Given the description of an element on the screen output the (x, y) to click on. 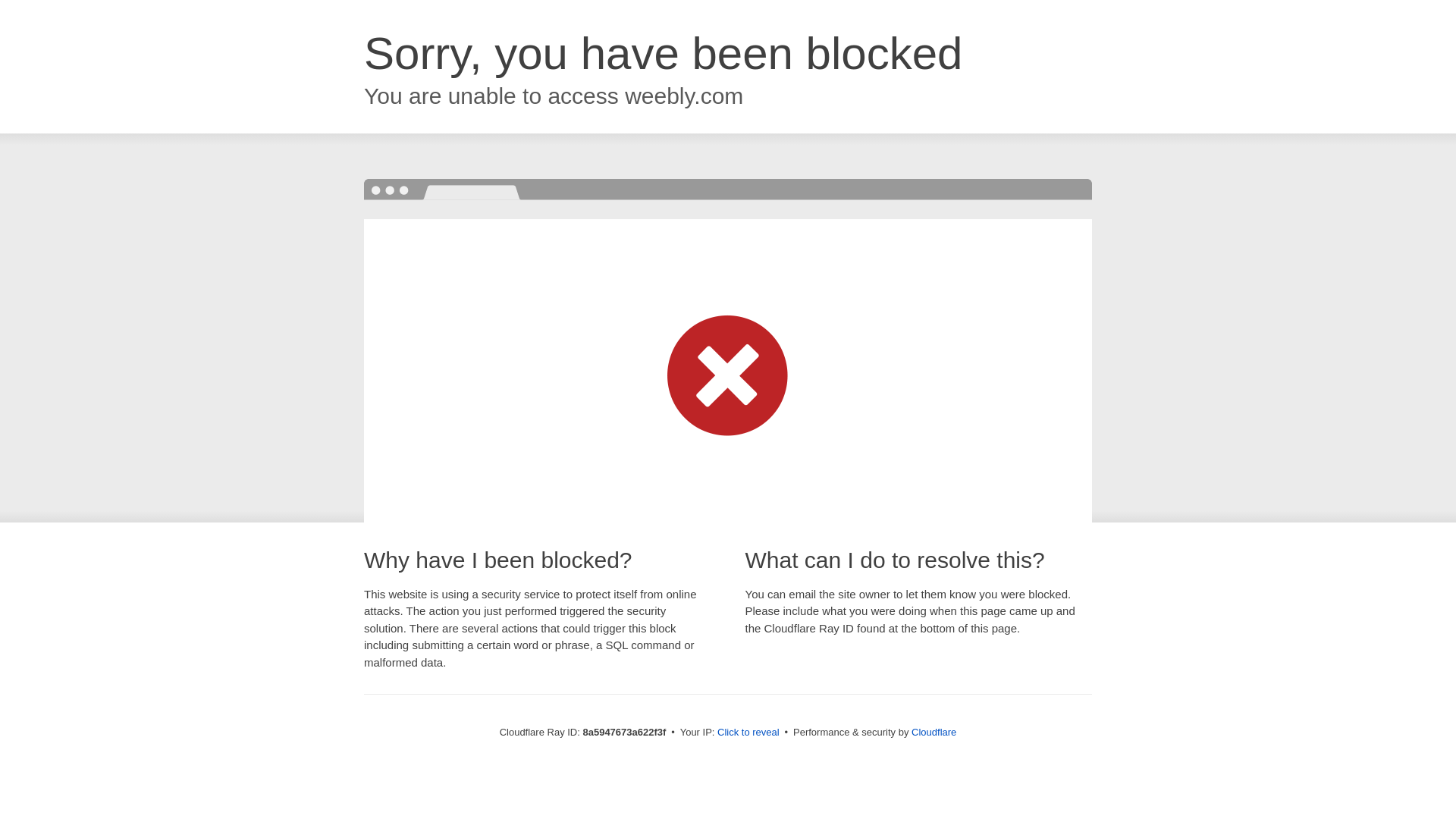
Click to reveal (747, 732)
Cloudflare (933, 731)
